Given the description of an element on the screen output the (x, y) to click on. 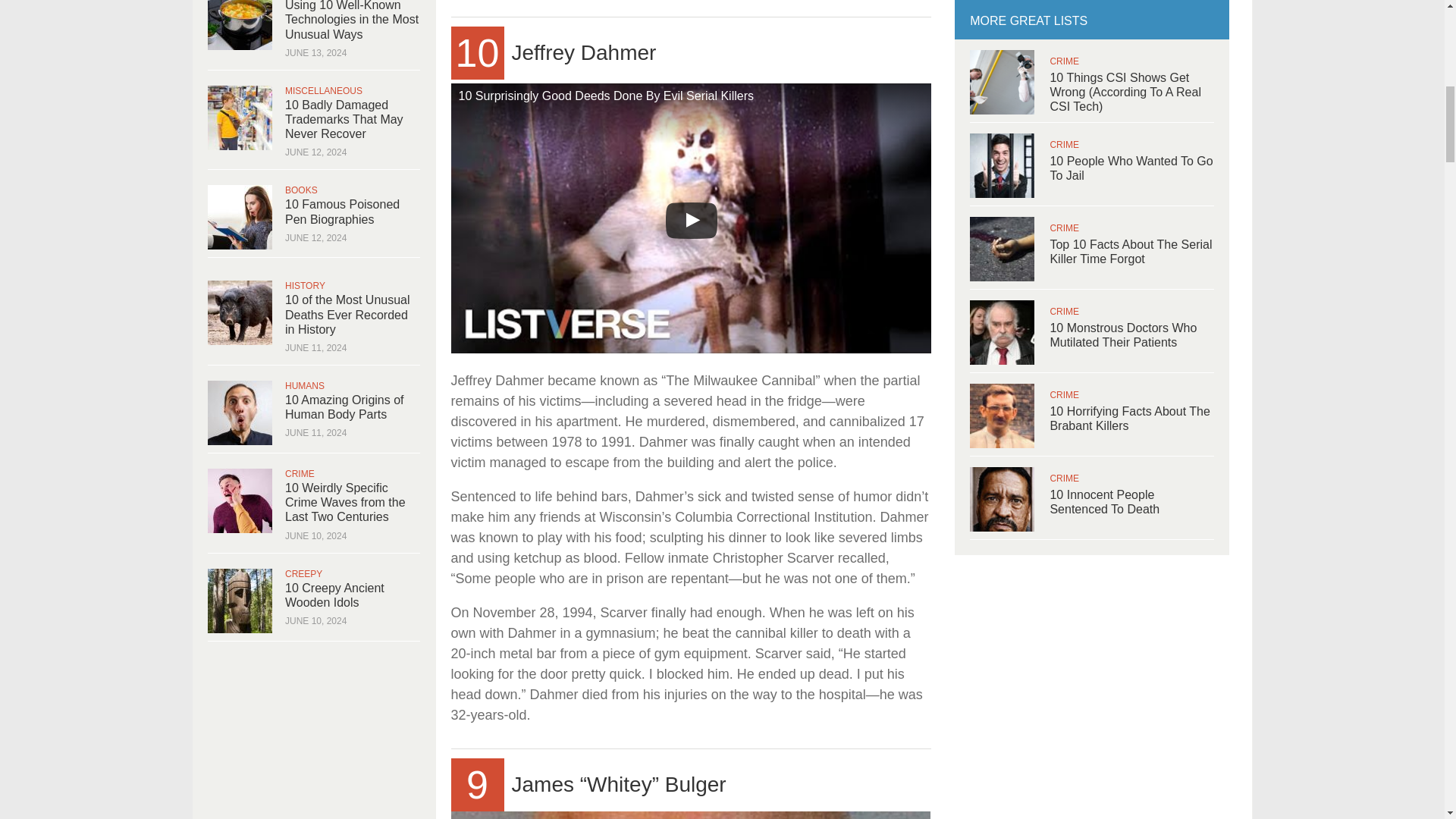
10 Surprisingly Good Deeds Done By Evil Serial Killers (689, 217)
